Given the description of an element on the screen output the (x, y) to click on. 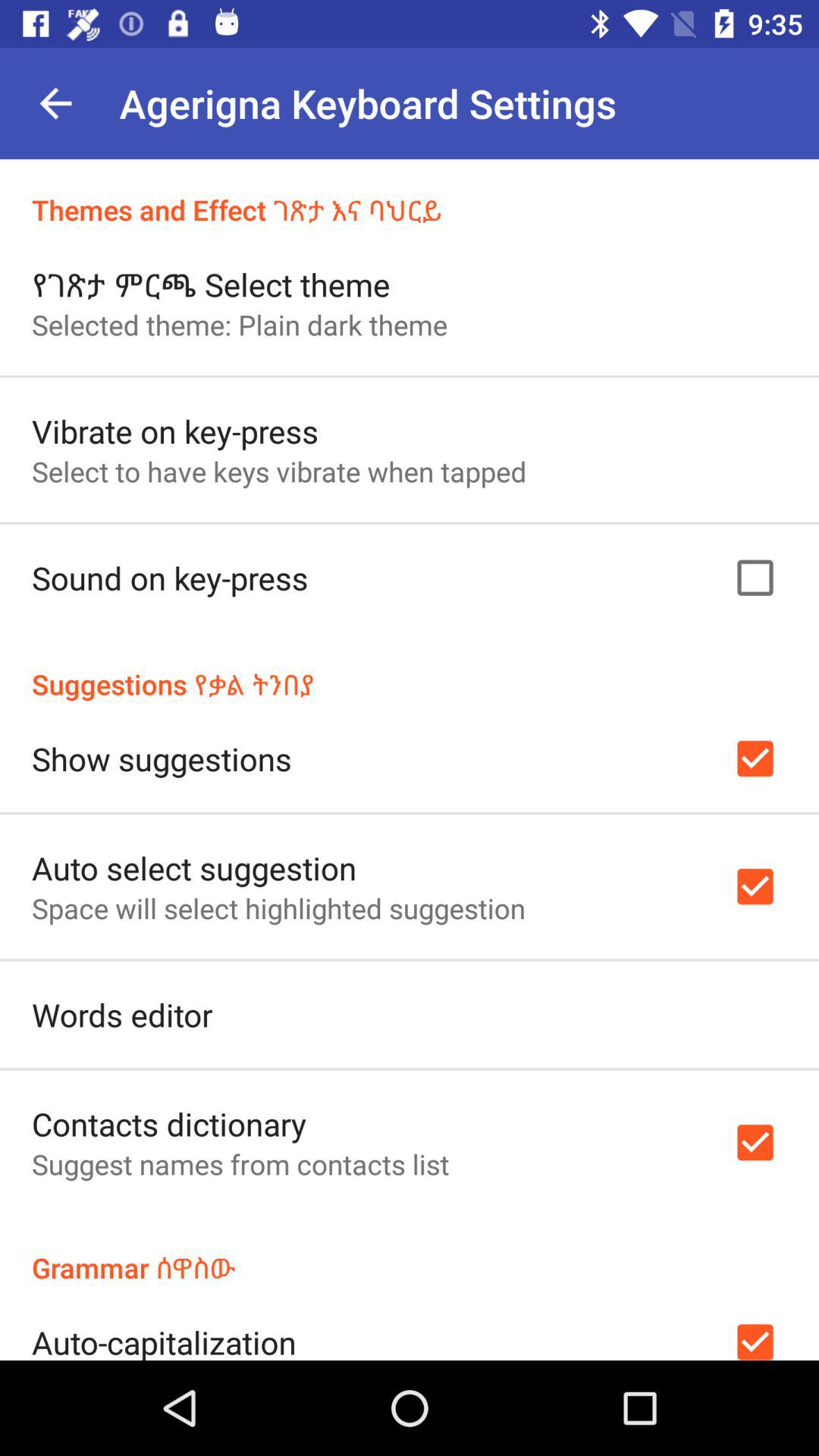
choose the item above selected theme plain icon (210, 283)
